Given the description of an element on the screen output the (x, y) to click on. 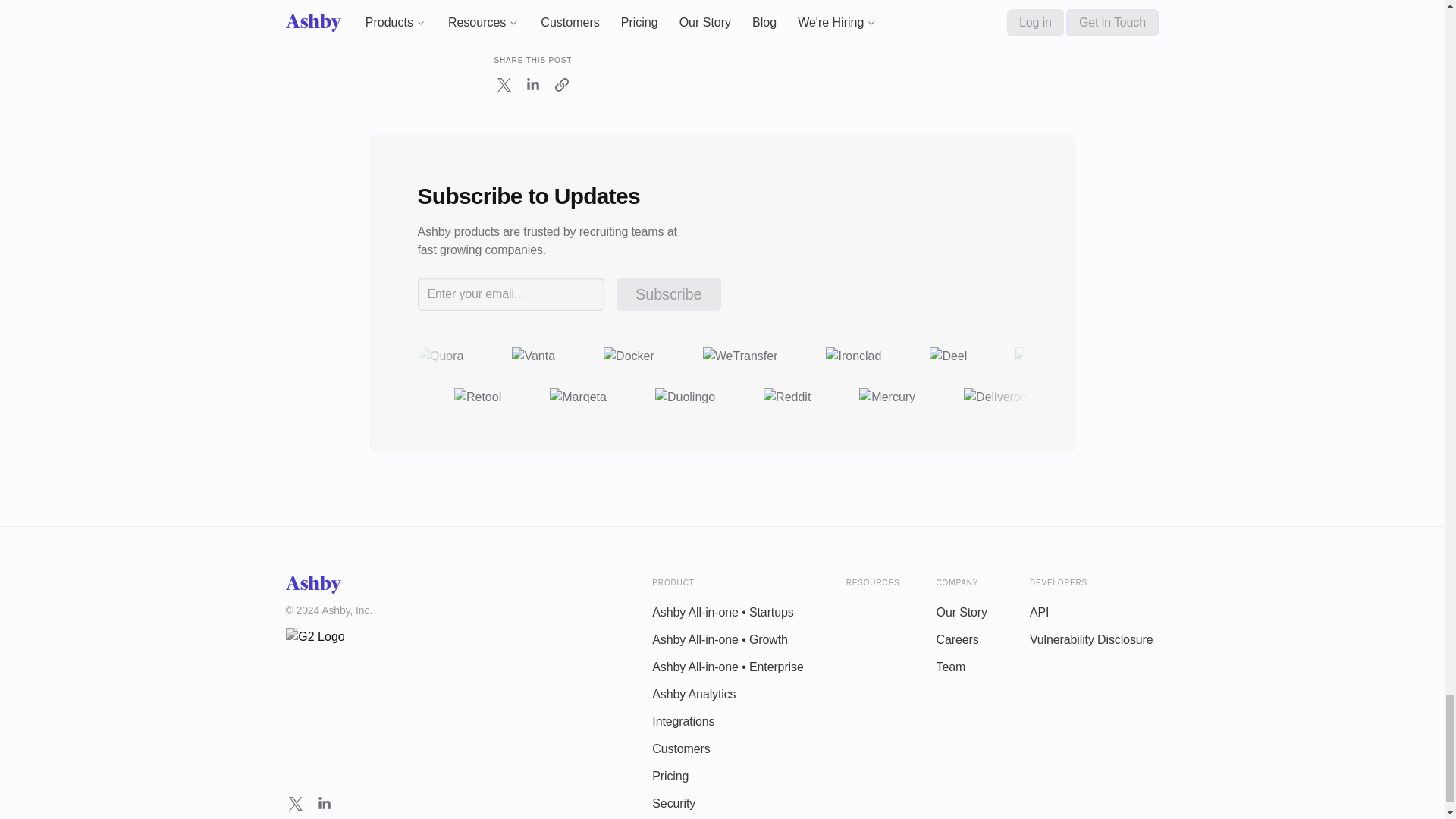
WeTransfer (739, 355)
Our Story (961, 612)
Customers (681, 749)
Copy post link (561, 85)
Ramp (1036, 355)
Subscribe (667, 294)
Security (673, 803)
Docker (628, 355)
Integrations (683, 721)
Ashby Analytics (693, 694)
